Given the description of an element on the screen output the (x, y) to click on. 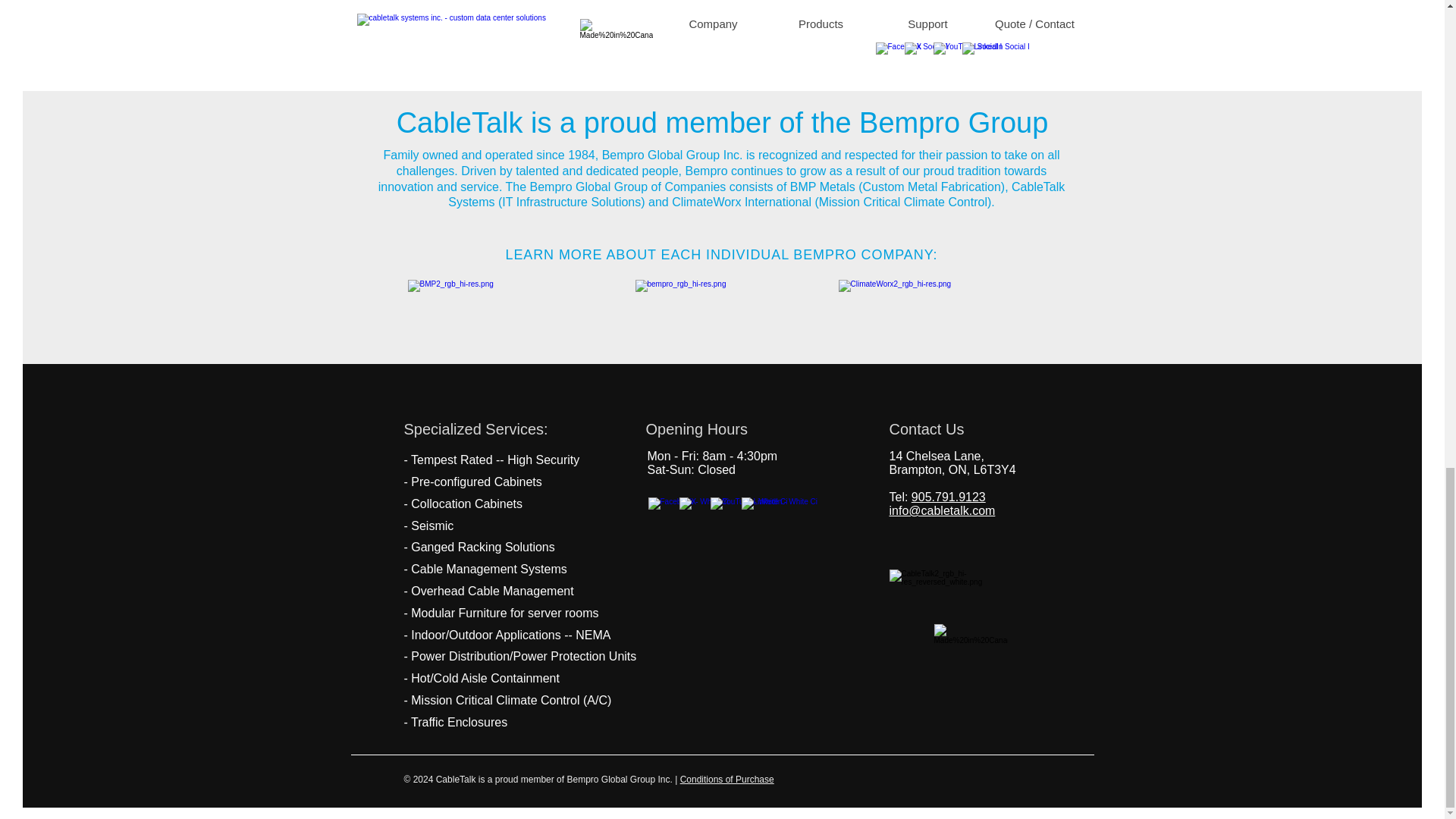
Industrial Enclosurs (904, 0)
Bempro Global Group (712, 304)
BMP Metals Inc. (499, 304)
CableTalk (958, 585)
ClimateWorx (938, 304)
